Given the description of an element on the screen output the (x, y) to click on. 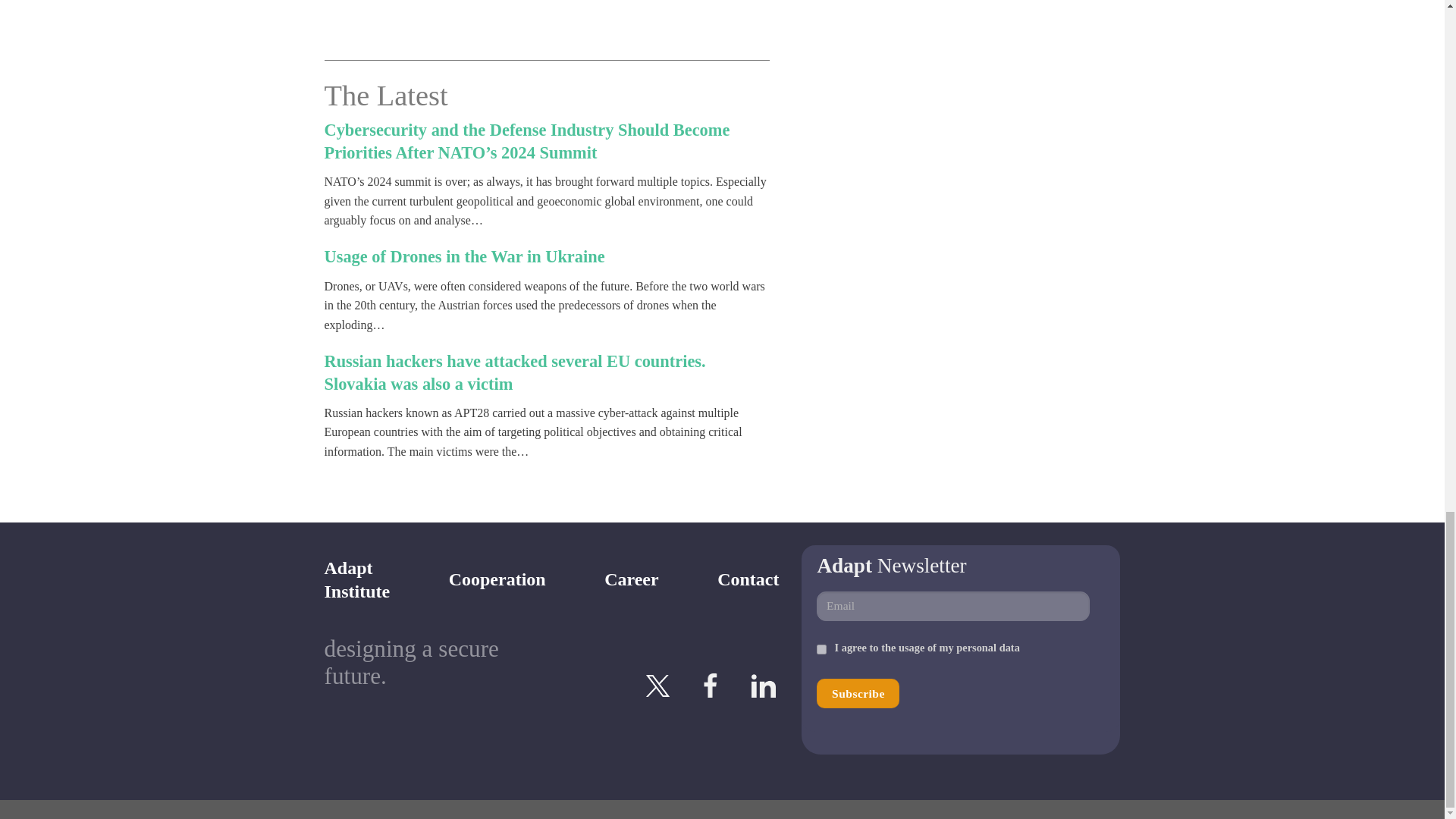
Cooperation (497, 578)
Career (631, 578)
on (821, 649)
Usage of Drones in the War in Ukraine (464, 256)
Subscribe (857, 693)
Contact (747, 578)
Subscribe (857, 693)
